Given the description of an element on the screen output the (x, y) to click on. 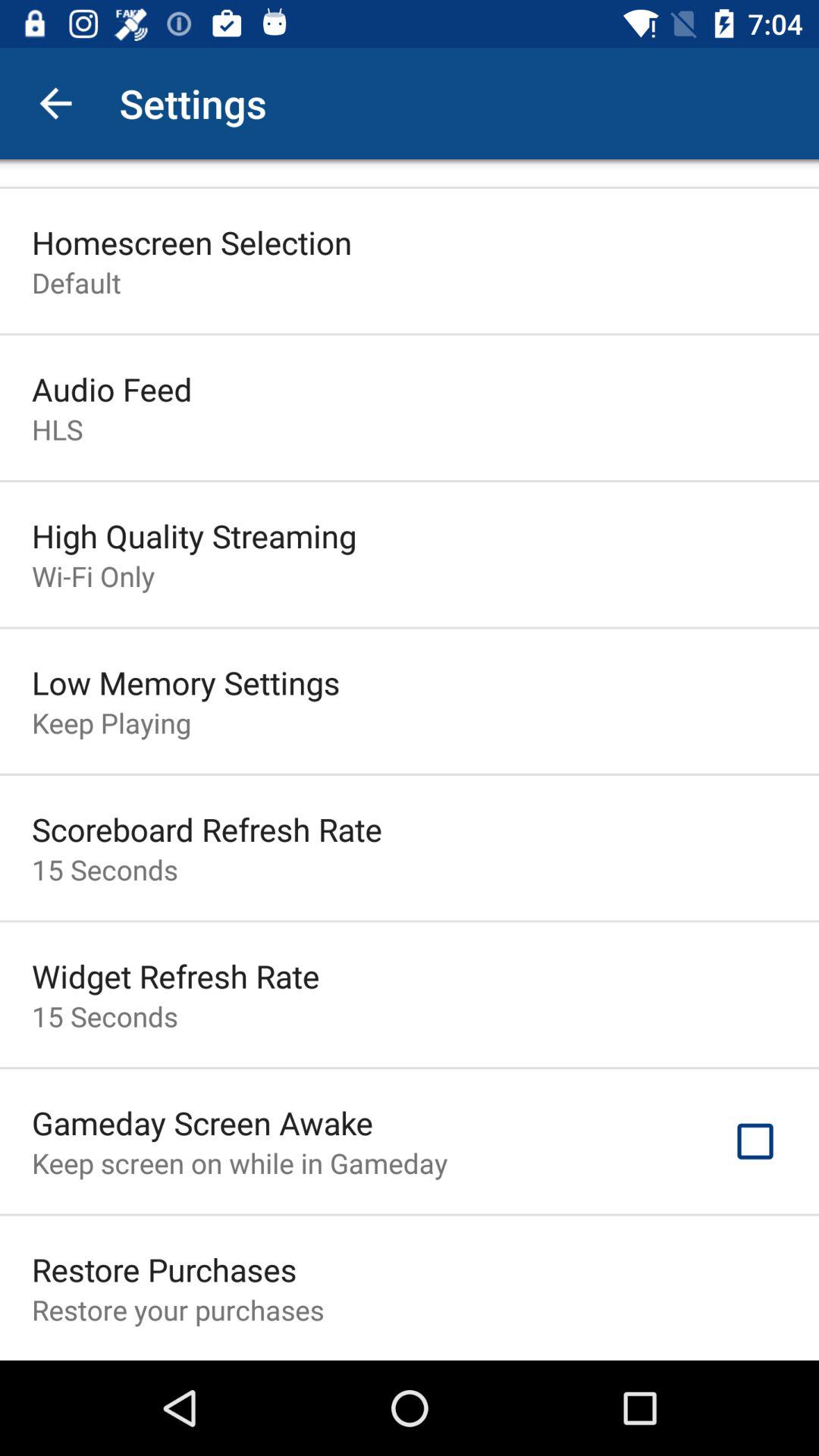
press the icon above the default item (191, 241)
